Given the description of an element on the screen output the (x, y) to click on. 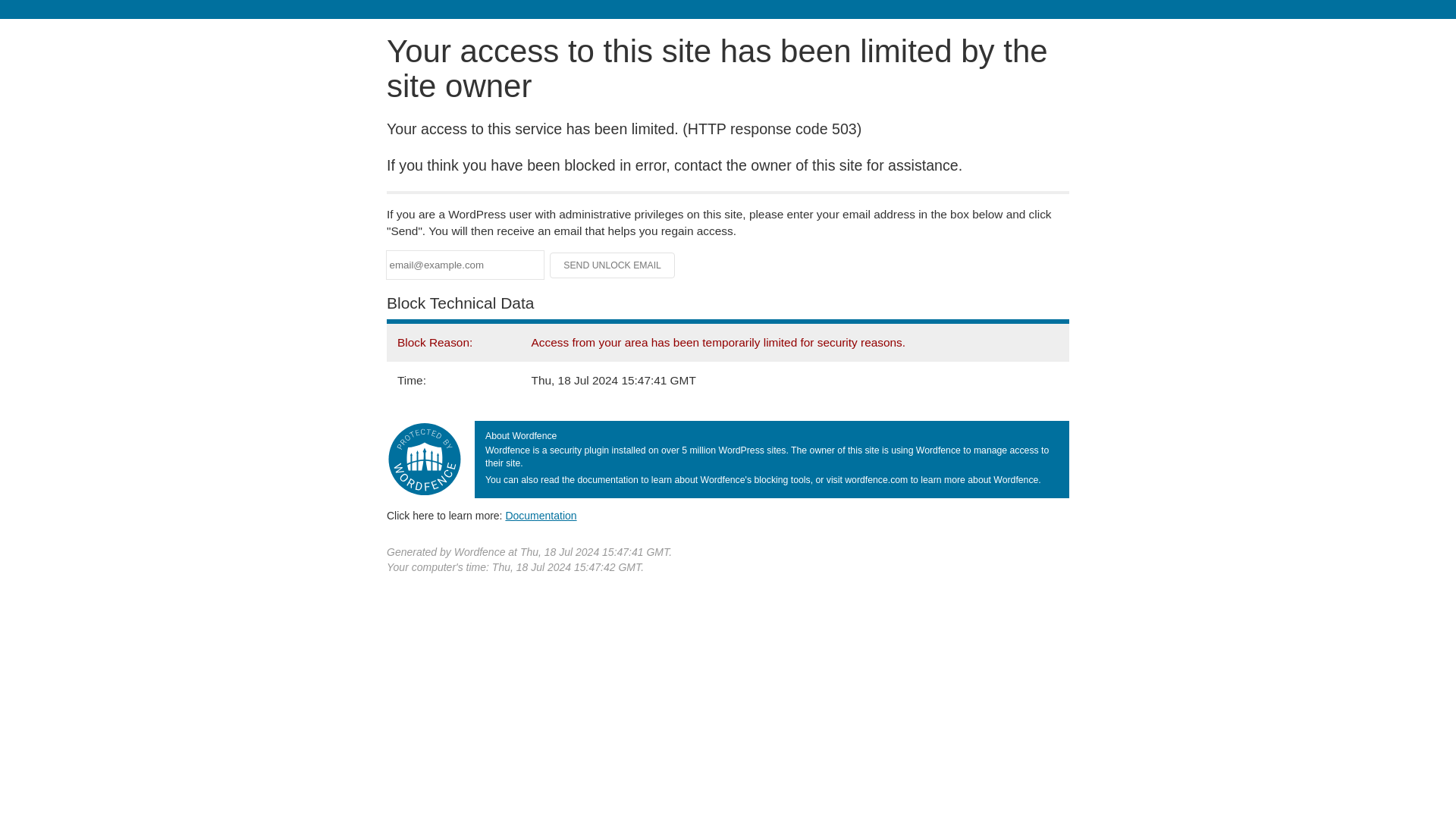
Documentation (540, 515)
Send Unlock Email (612, 265)
Send Unlock Email (612, 265)
